Given the description of an element on the screen output the (x, y) to click on. 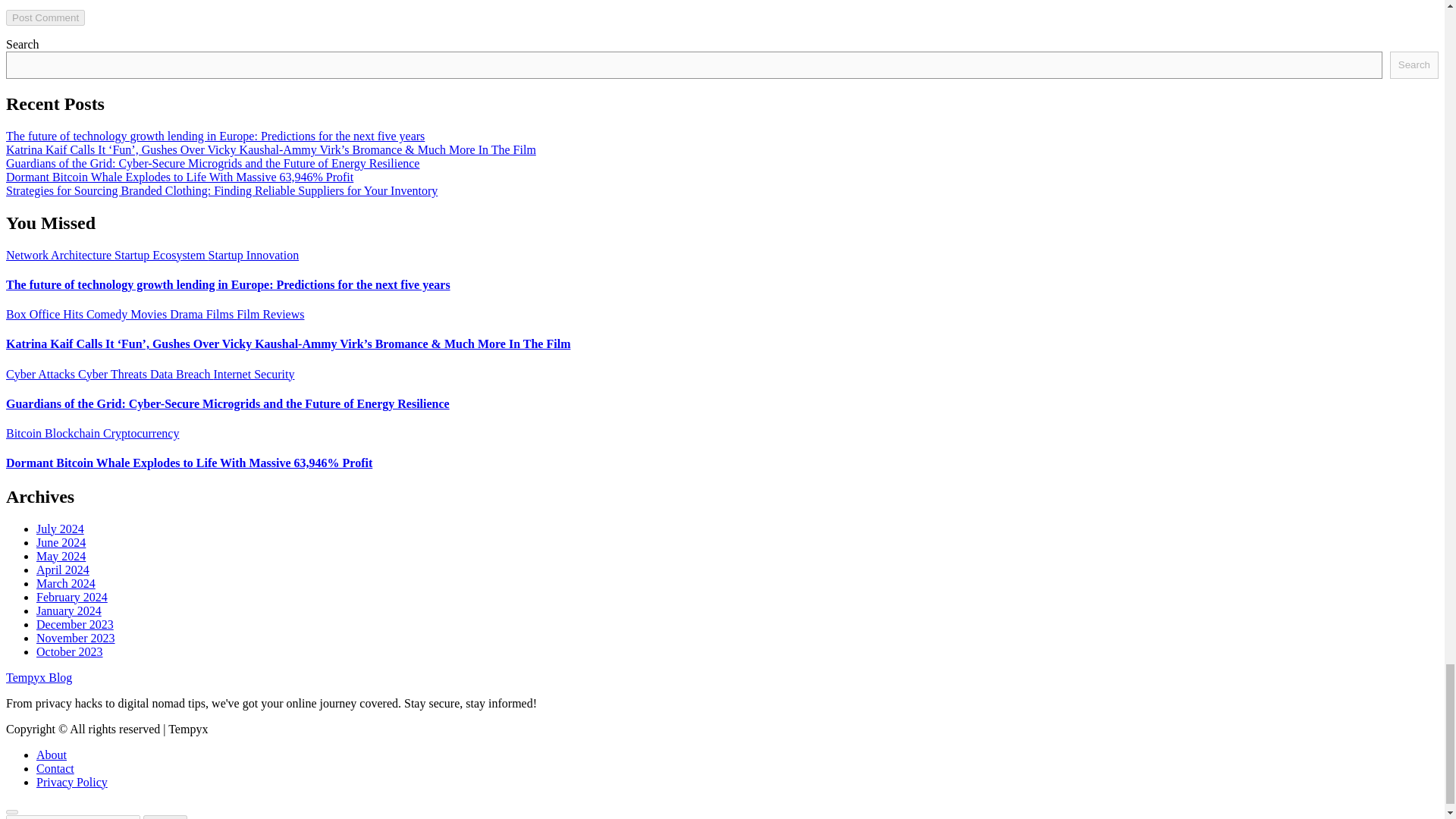
Post Comment (44, 17)
